Given the description of an element on the screen output the (x, y) to click on. 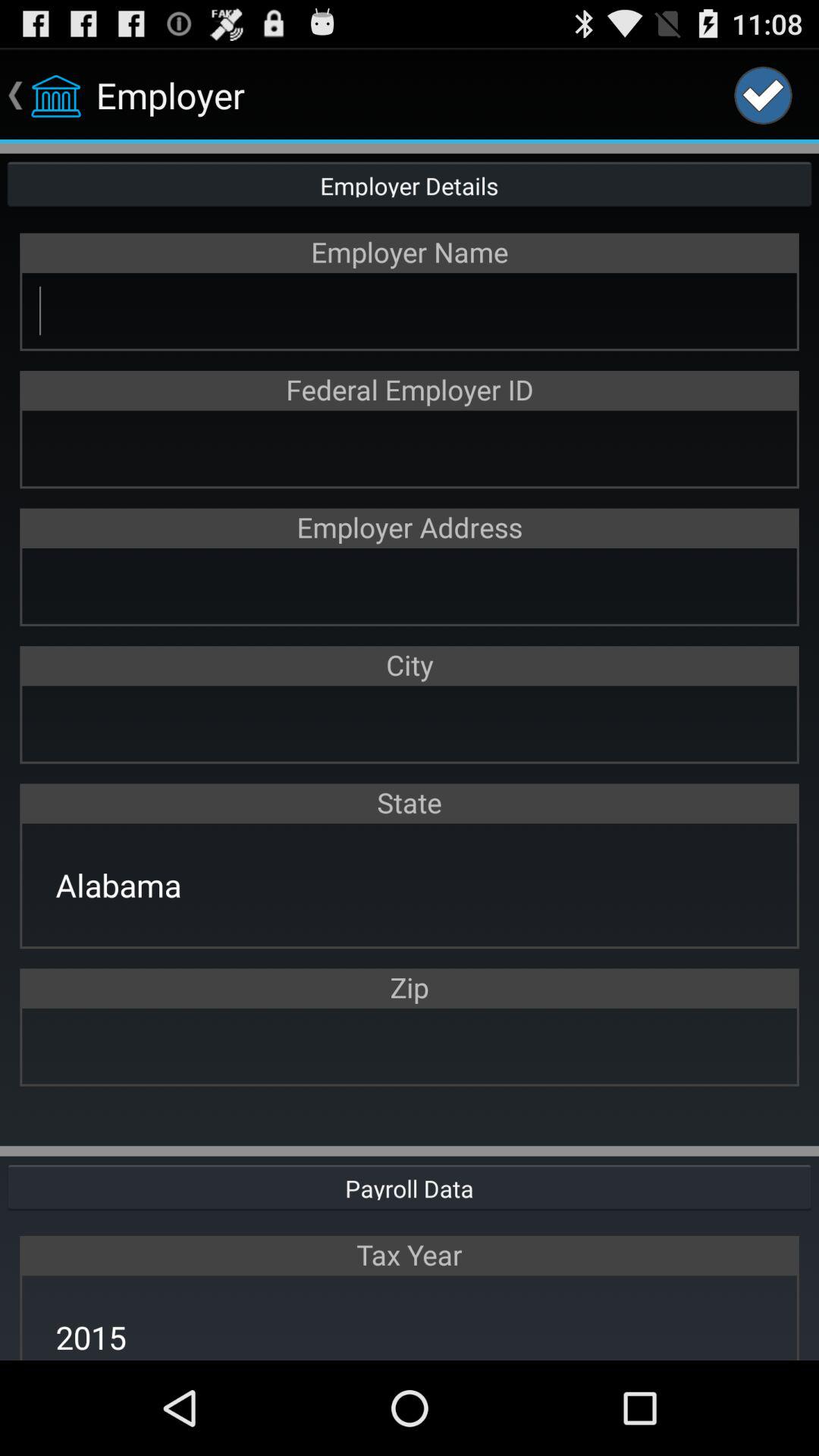
open app above employer name item (409, 183)
